Given the description of an element on the screen output the (x, y) to click on. 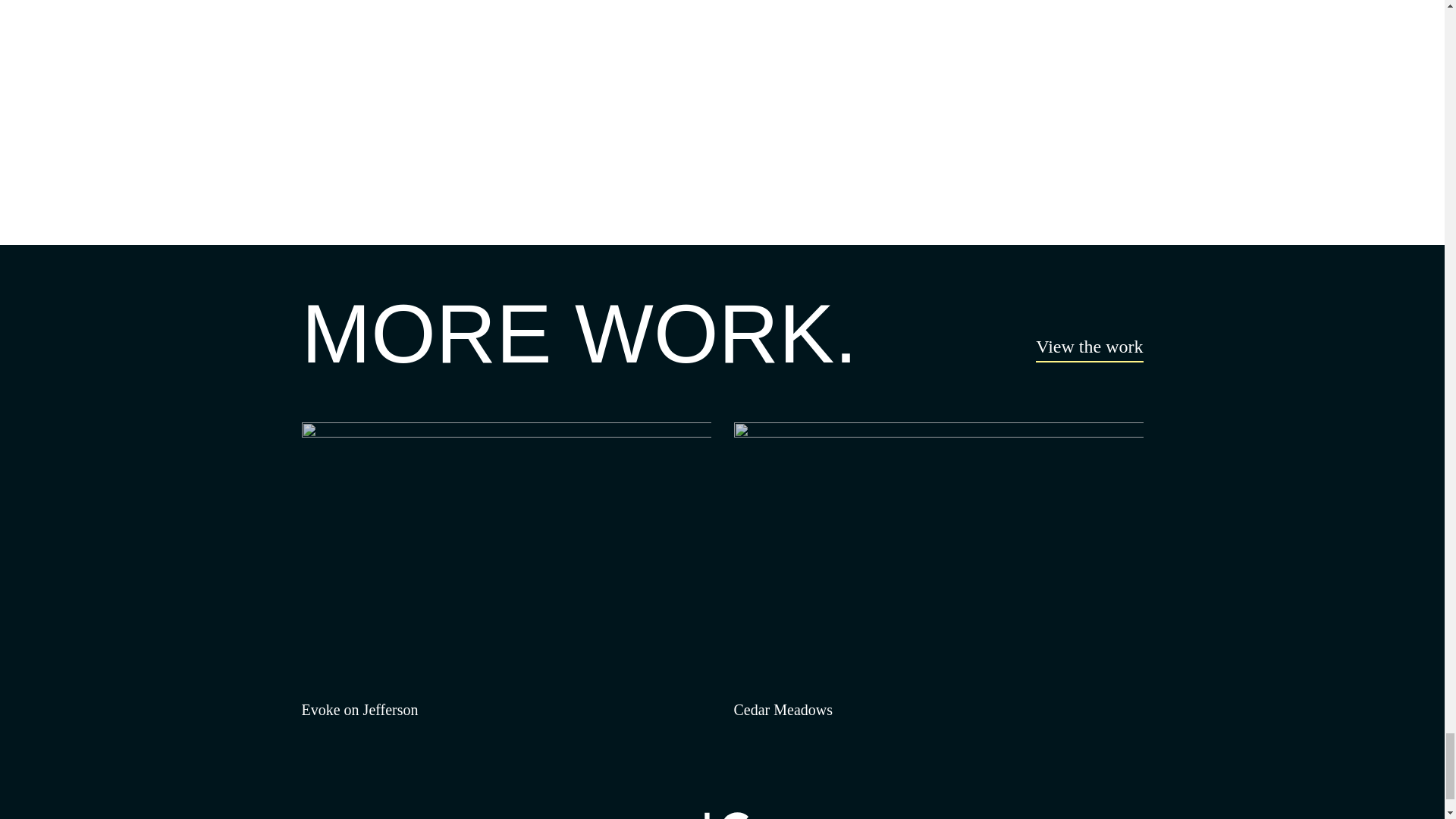
View the work (1088, 349)
Evoke on Jefferson (506, 571)
Cedar Meadows (937, 571)
